Given the description of an element on the screen output the (x, y) to click on. 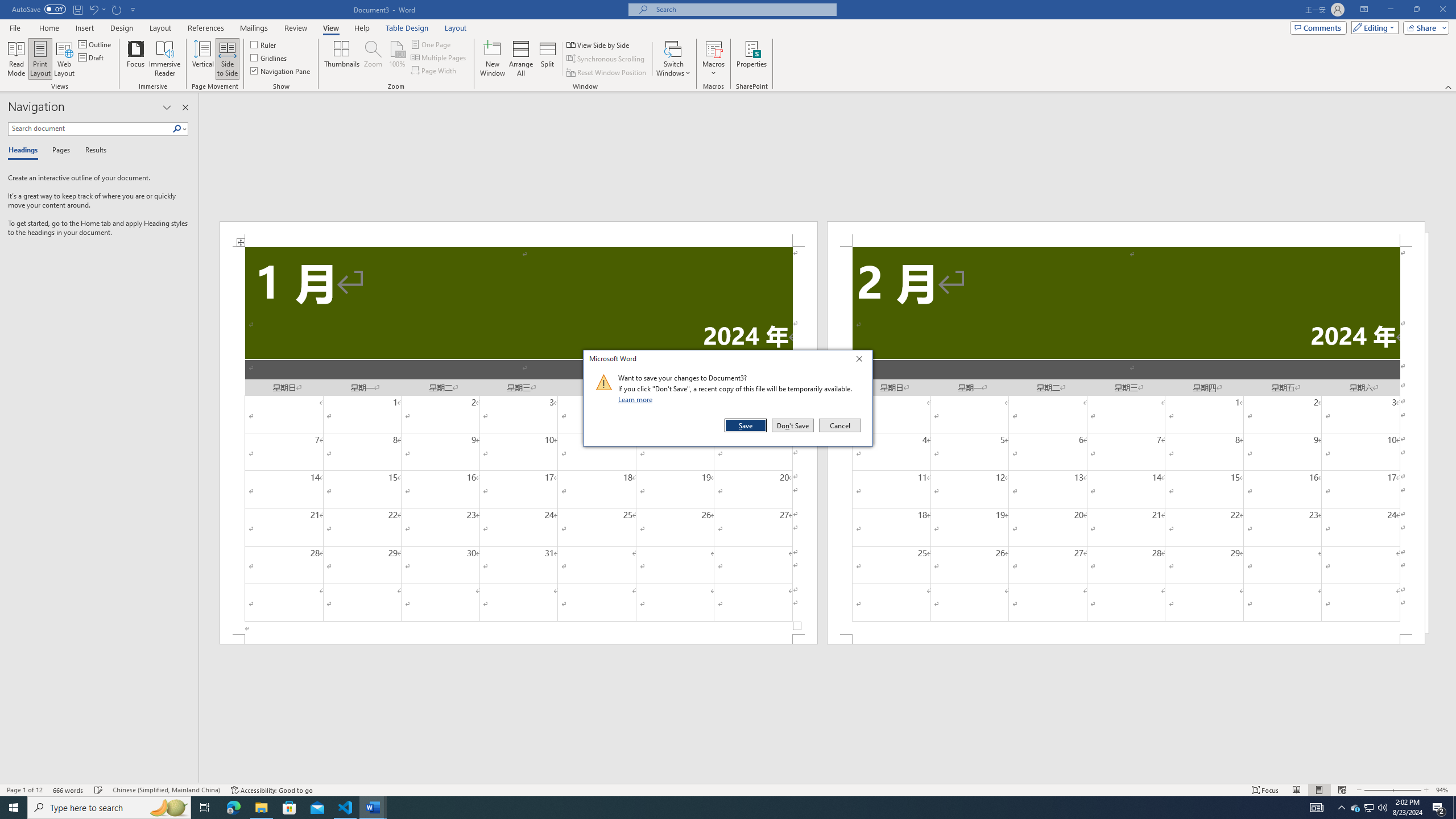
View Side by Side (598, 44)
Switch Windows (673, 58)
Header -Section 1- (518, 233)
Show desktop (1454, 807)
Header -Section 2- (1126, 233)
Word - 2 running windows (373, 807)
Cancel (839, 425)
Navigation Pane (281, 69)
